Given the description of an element on the screen output the (x, y) to click on. 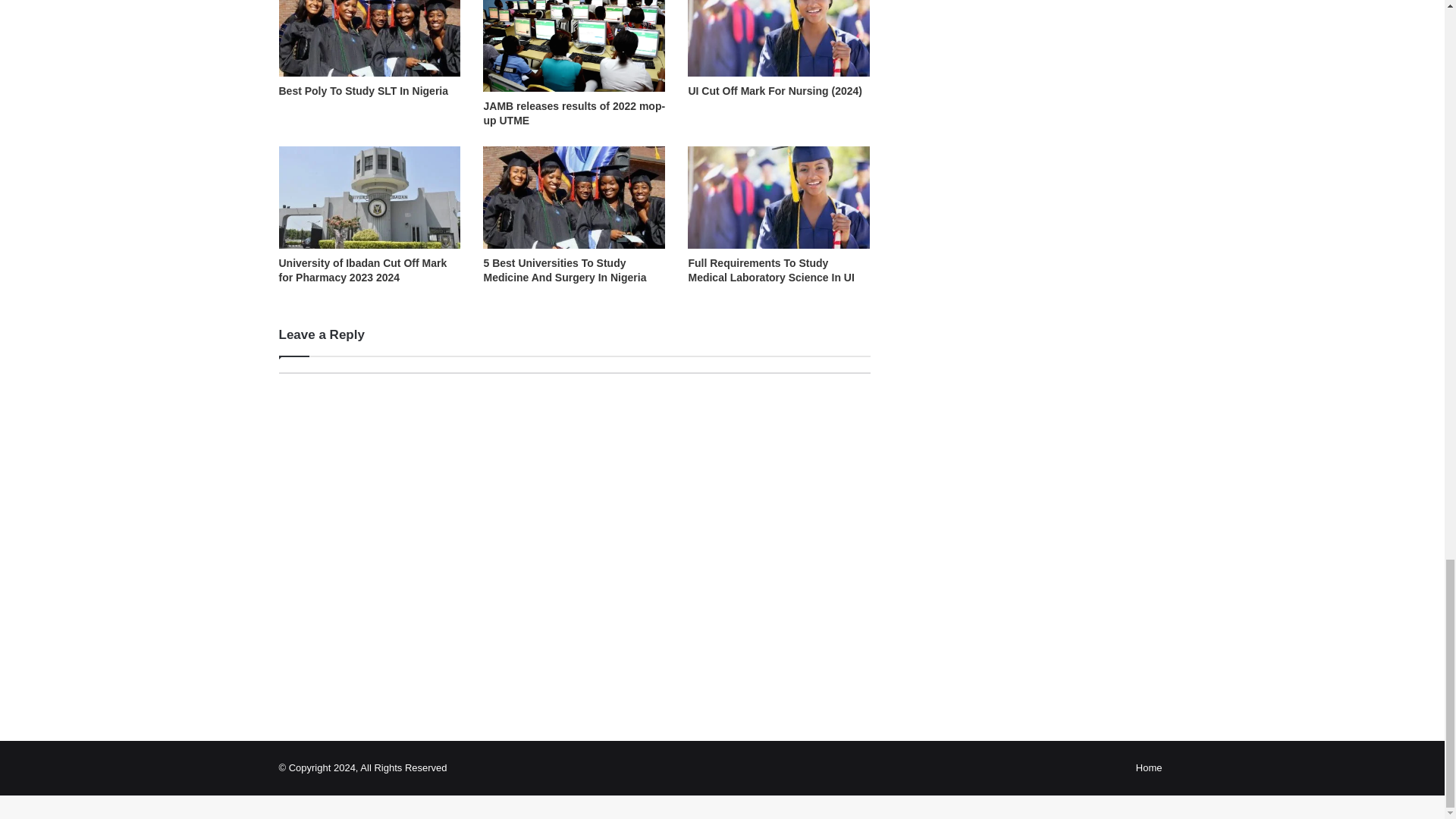
JAMB releases results of 2022 mop-up UTME (574, 112)
5 Best Universities To Study Medicine And Surgery In Nigeria (564, 270)
University of Ibadan Cut Off Mark for Pharmacy 2023 2024 (362, 270)
Best Poly To Study SLT In Nigeria (363, 91)
Full Requirements To Study Medical Laboratory Science In UI (770, 270)
